Given the description of an element on the screen output the (x, y) to click on. 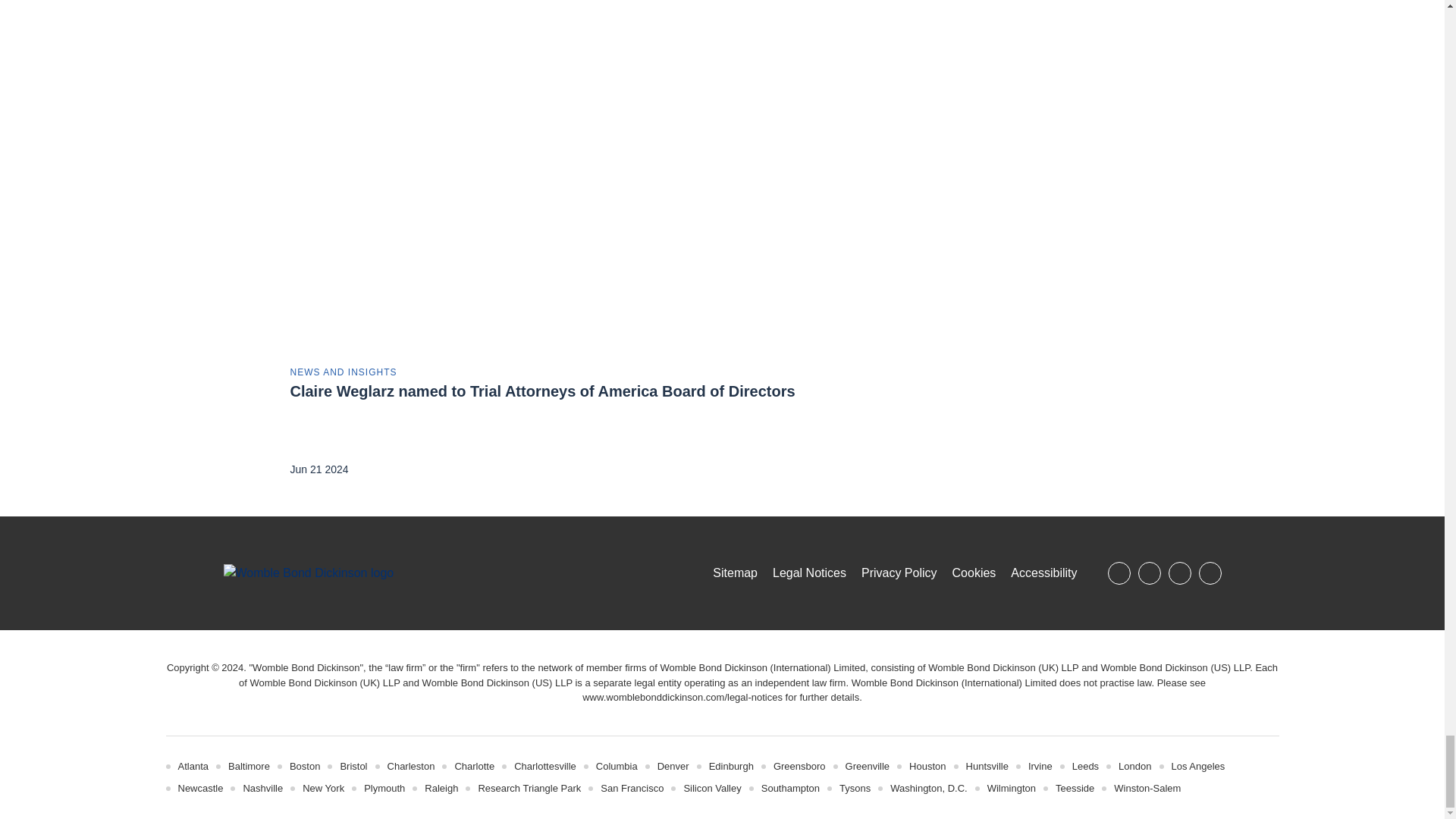
Houston, TX, US (926, 766)
Boston, MA, US (304, 766)
Charleston, SC, US (411, 766)
London (1134, 766)
Denver, CO, US (673, 766)
Leeds (1085, 766)
Atlanta, GA, US (192, 766)
Baltimore, MD, US (248, 766)
Charlottesville, VA, US (544, 766)
Bristol (352, 766)
Greenville, SC, US (867, 766)
Edinburgh (731, 766)
Columbia, SC, US (616, 766)
Charlotte, NC, US (474, 766)
Legal Notices (682, 696)
